Given the description of an element on the screen output the (x, y) to click on. 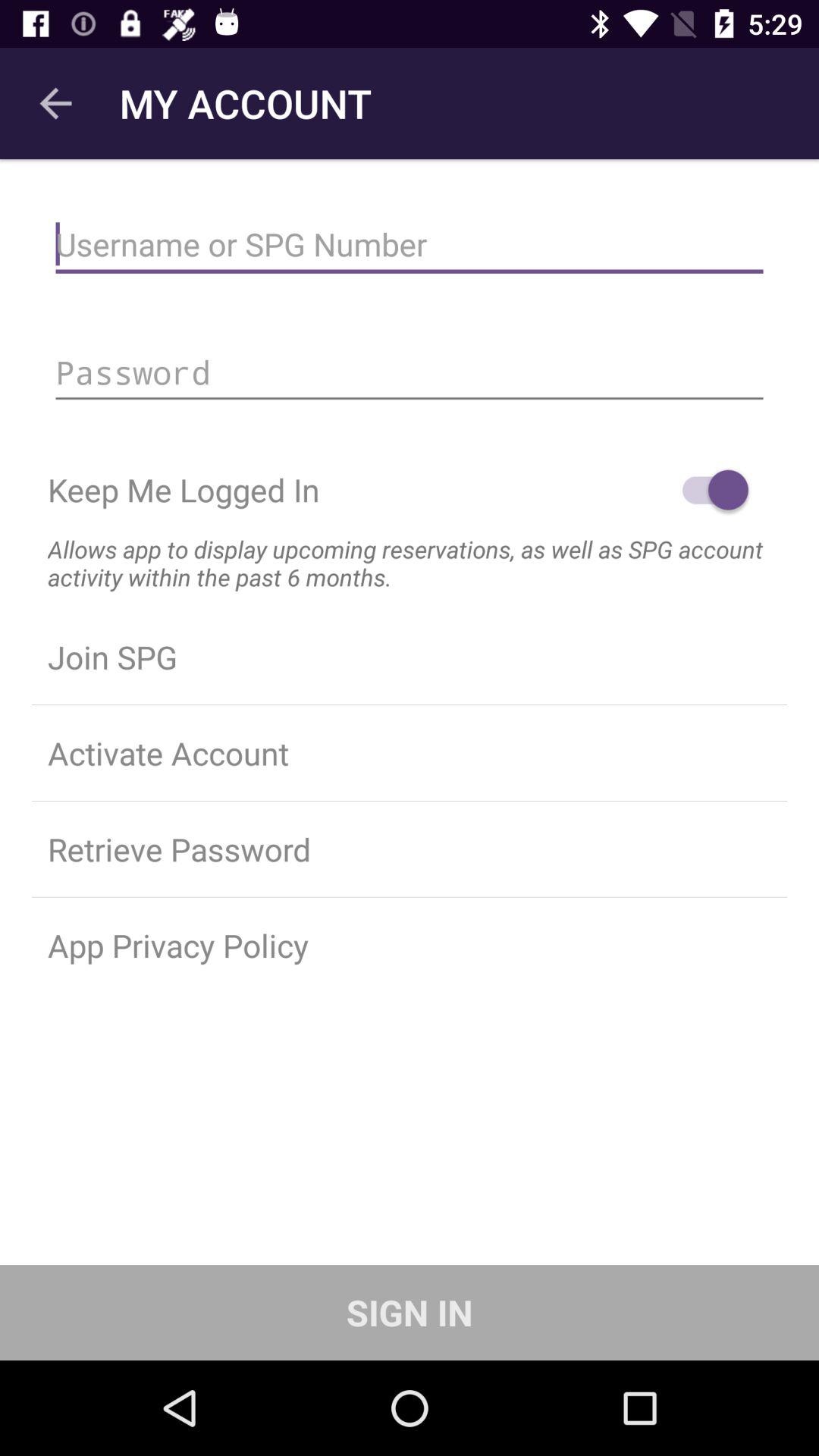
keep logged in button (707, 489)
